Given the description of an element on the screen output the (x, y) to click on. 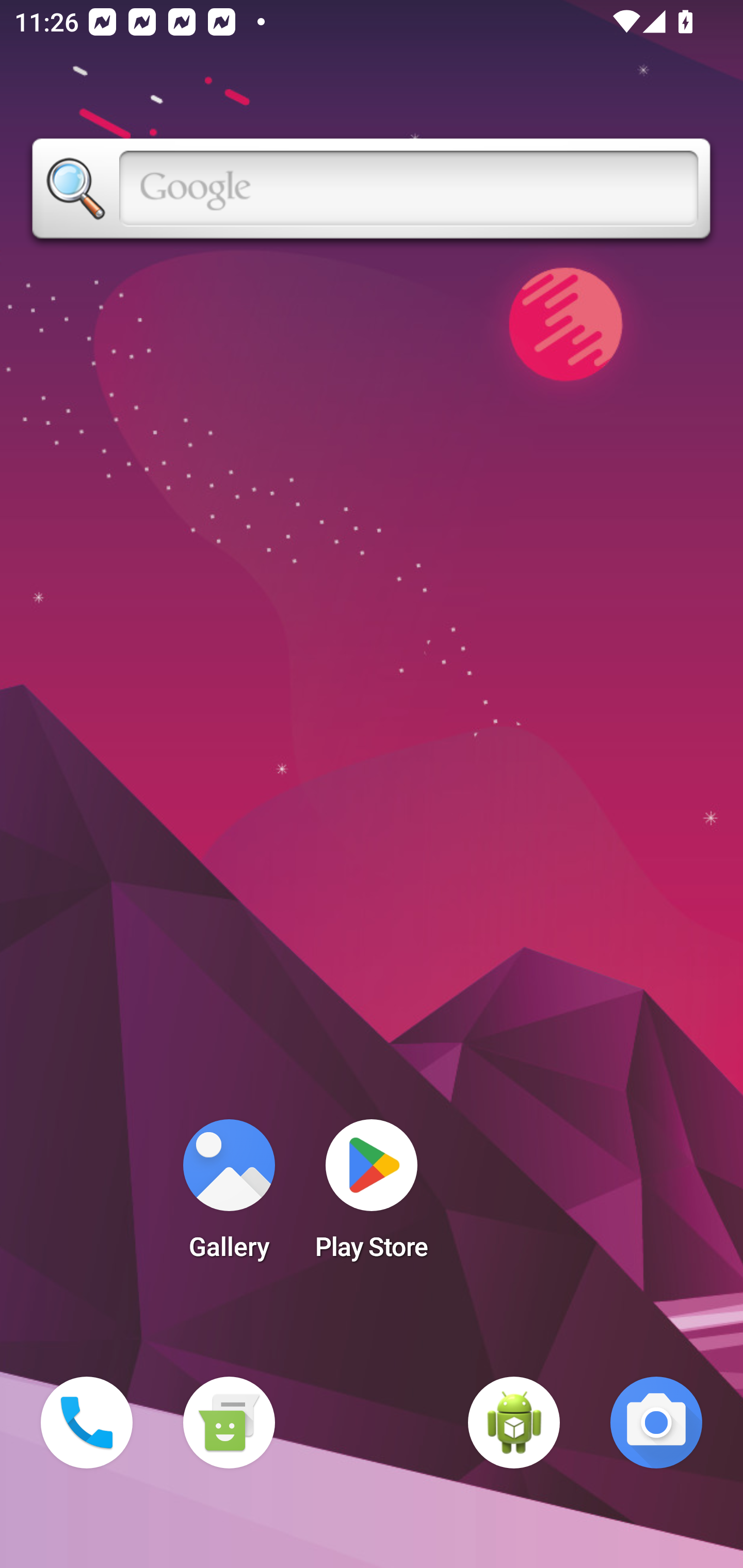
Gallery (228, 1195)
Play Store (371, 1195)
Phone (86, 1422)
Messaging (228, 1422)
WebView Browser Tester (513, 1422)
Camera (656, 1422)
